Given the description of an element on the screen output the (x, y) to click on. 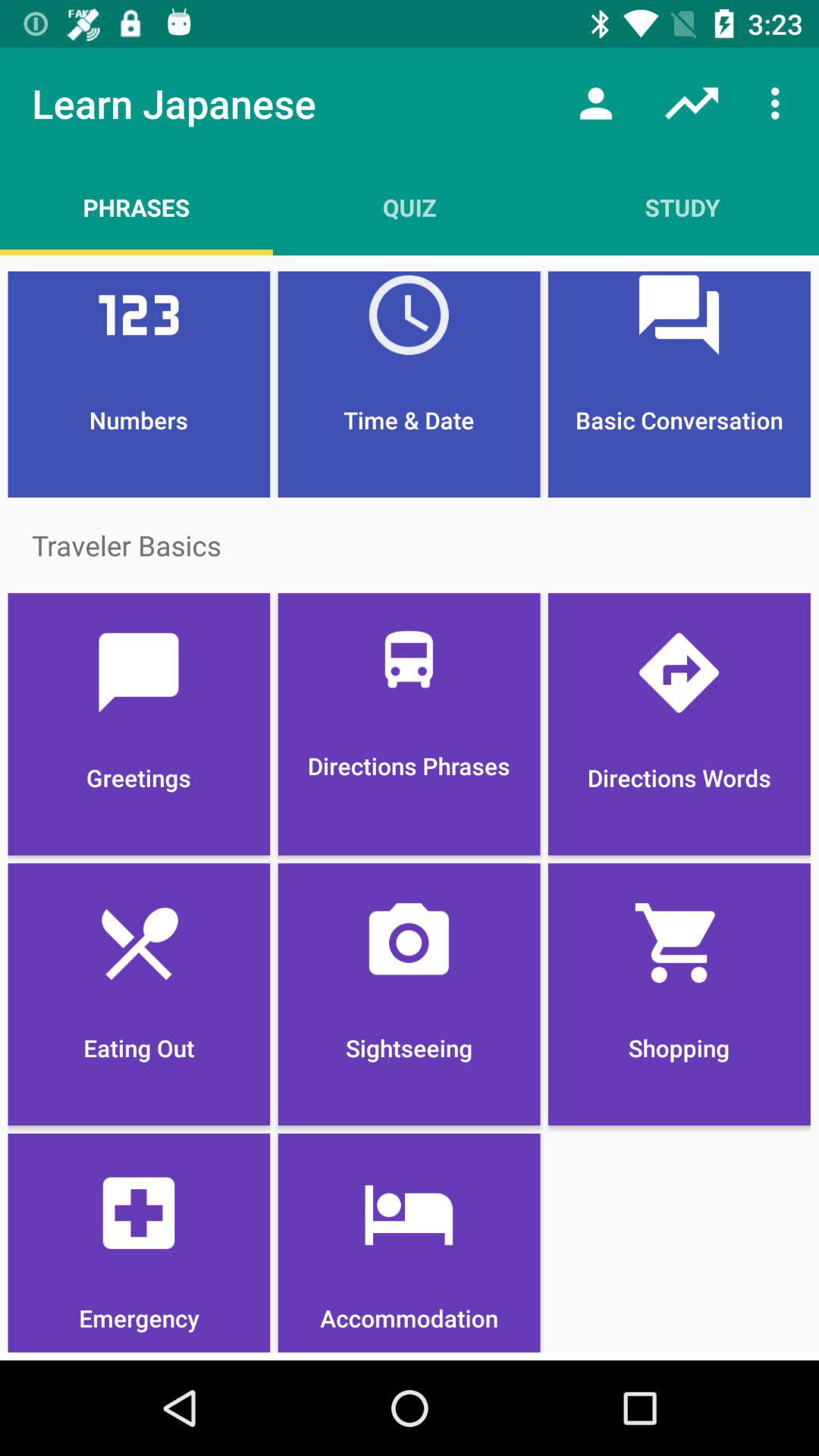
launch app to the right of the phrases icon (409, 207)
